Given the description of an element on the screen output the (x, y) to click on. 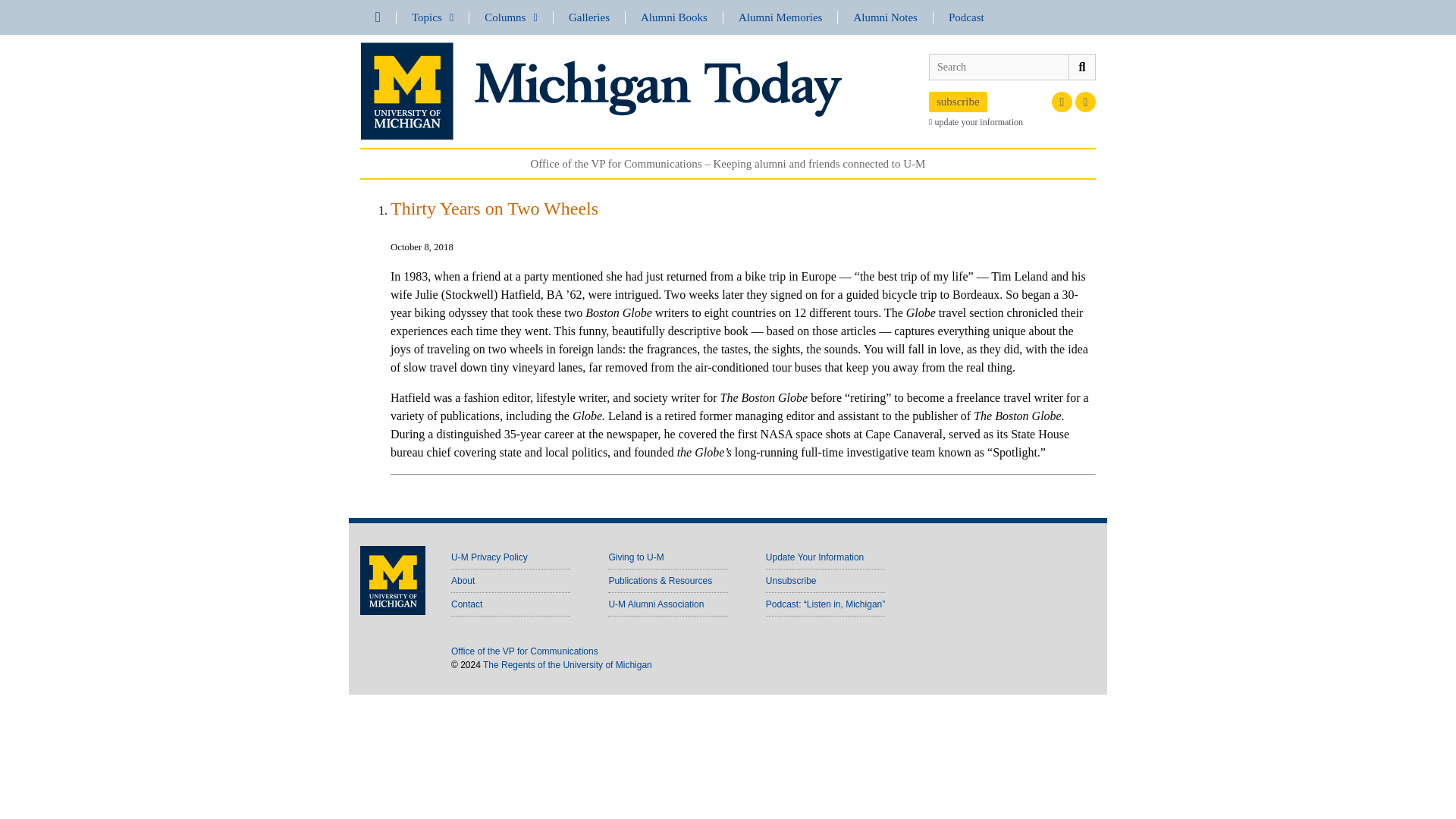
Home (377, 17)
Alumni Books (674, 17)
Michigan Today (601, 91)
Galleries (588, 17)
About (462, 580)
Topics (432, 17)
Alumni Notes (885, 17)
RSS (1085, 101)
Search (1081, 67)
Alumni Memories (780, 17)
Michigan Today (601, 88)
update your information (1012, 122)
subscribe (957, 101)
Columns (510, 17)
U-M Privacy Policy (489, 557)
